Given the description of an element on the screen output the (x, y) to click on. 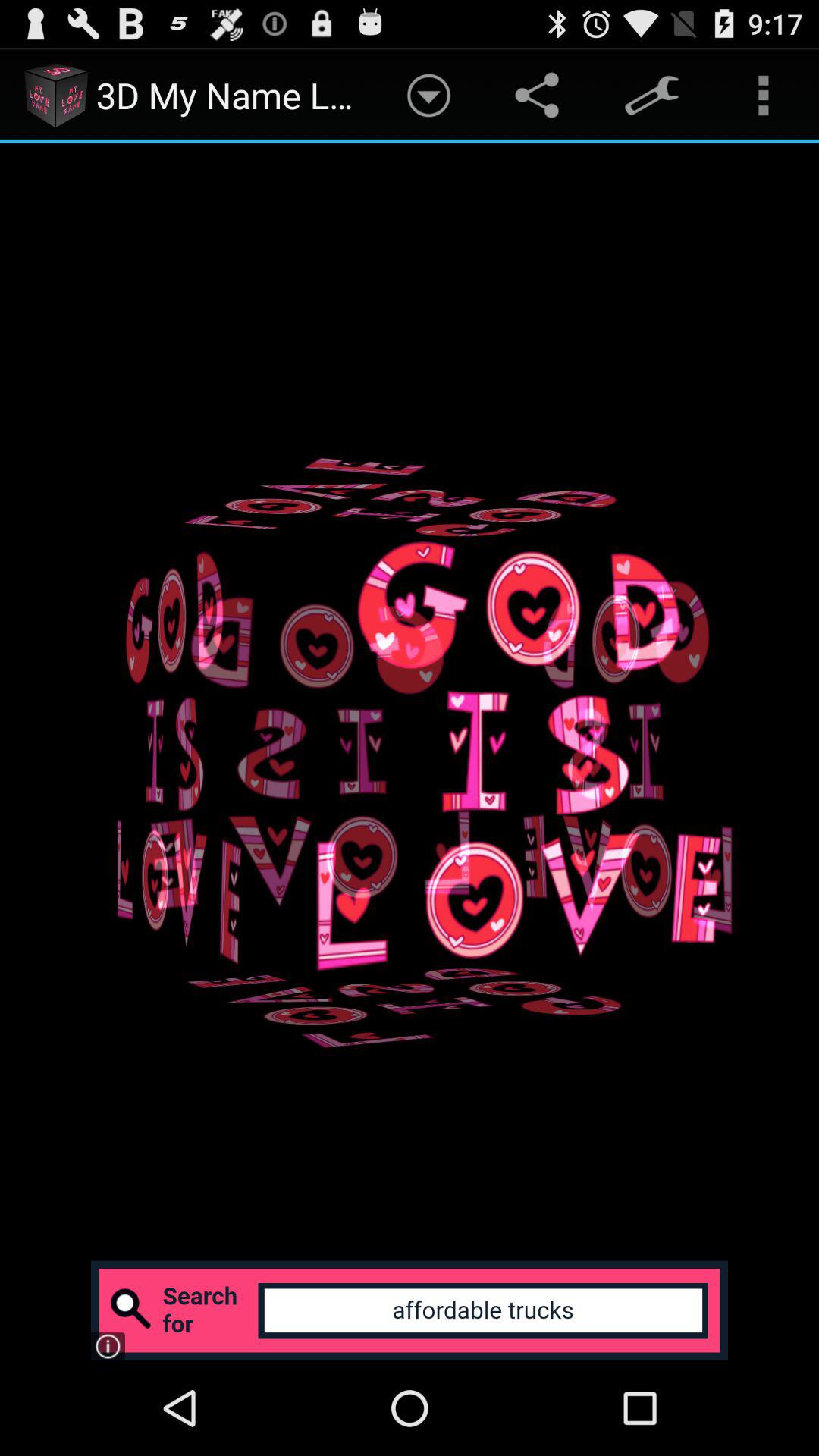
press app next to the 3d my name item (428, 95)
